Given the description of an element on the screen output the (x, y) to click on. 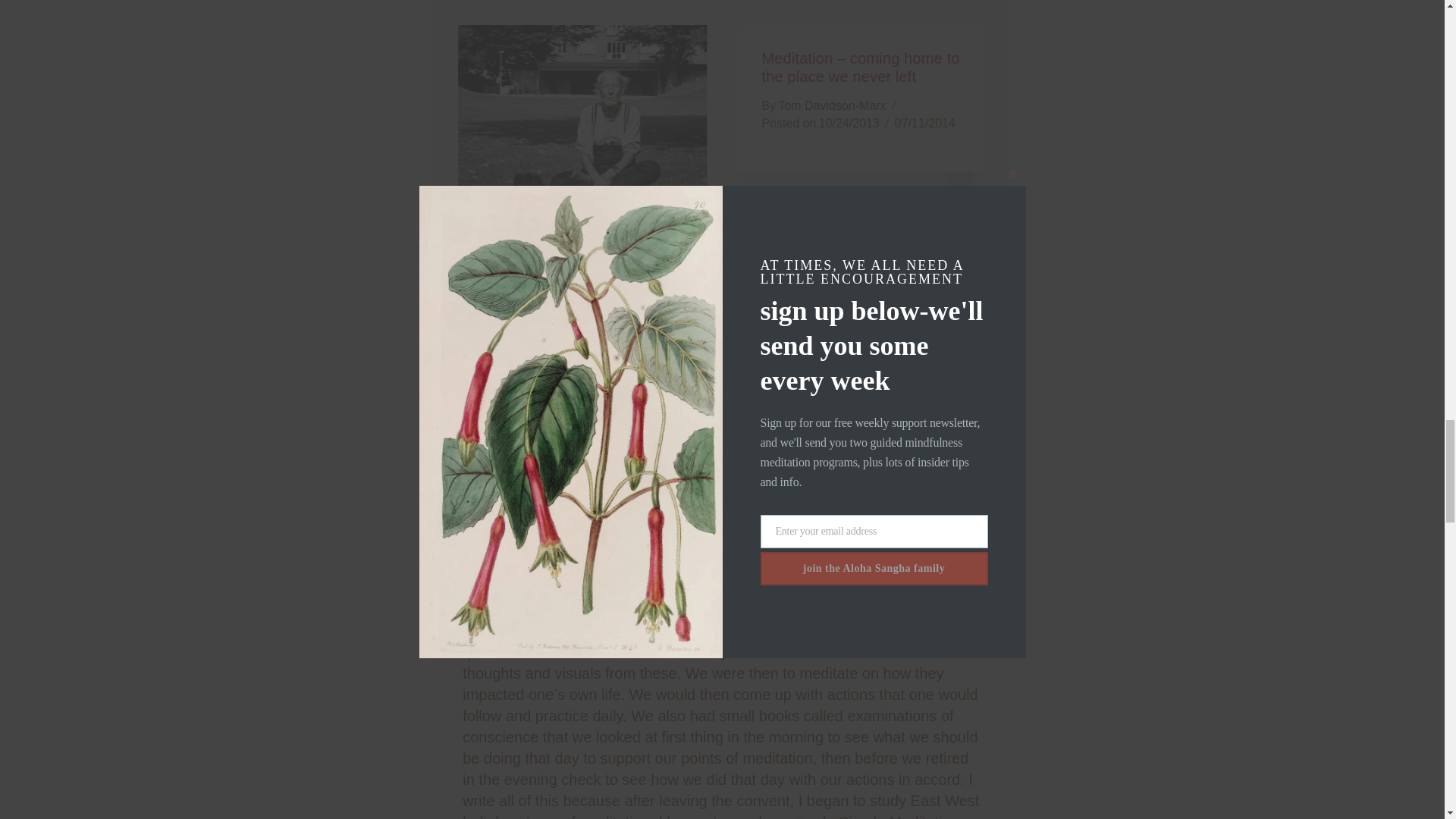
meditation changes your brain--for the better 2 (582, 118)
